Given the description of an element on the screen output the (x, y) to click on. 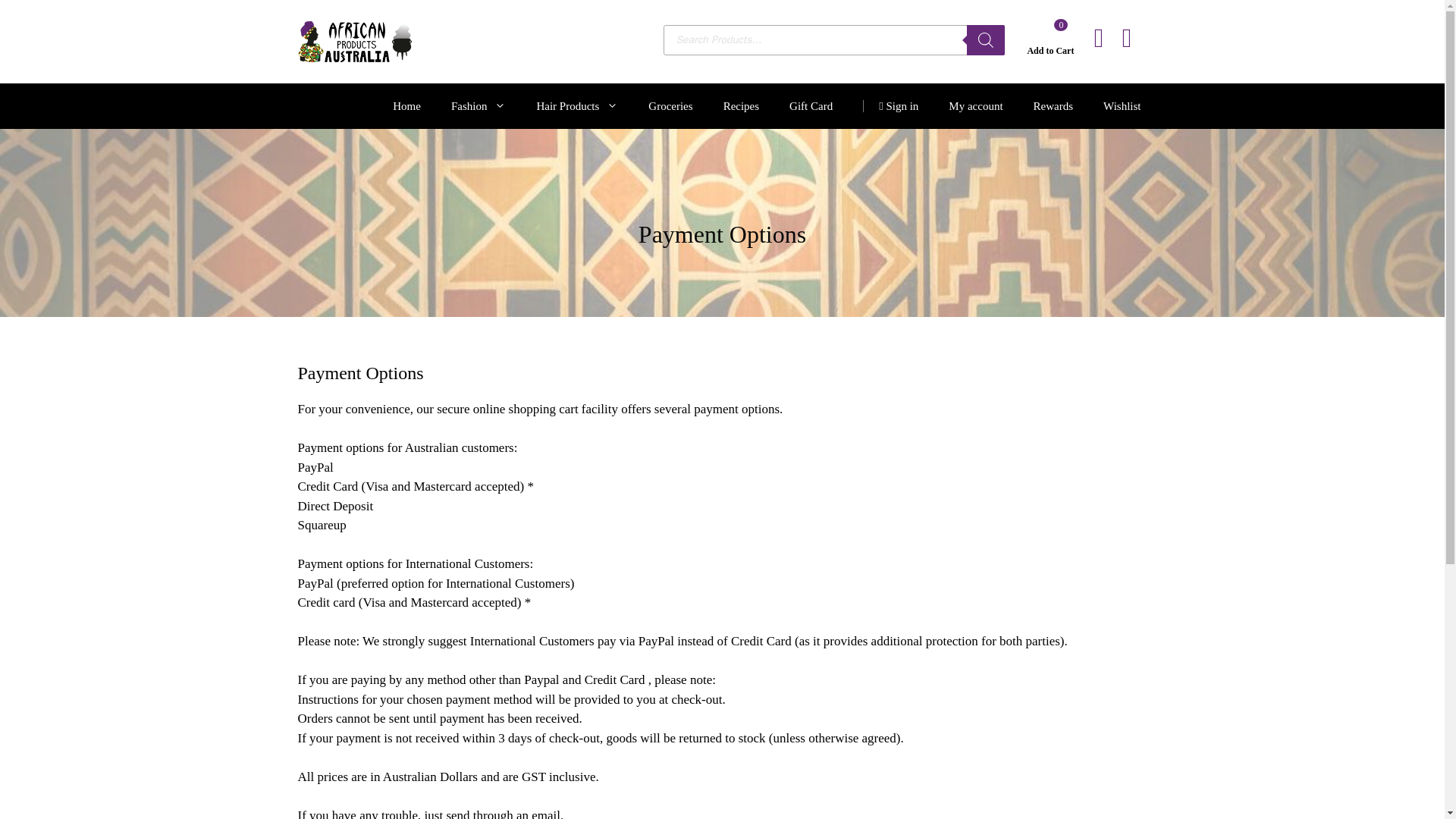
Rewards (1053, 105)
Home (406, 105)
Groceries (670, 105)
Hair Products (577, 105)
Gift Card (810, 105)
Recipes (740, 105)
My account (975, 105)
Sign in (890, 105)
Wishlist (1121, 105)
0 (1060, 24)
